Given the description of an element on the screen output the (x, y) to click on. 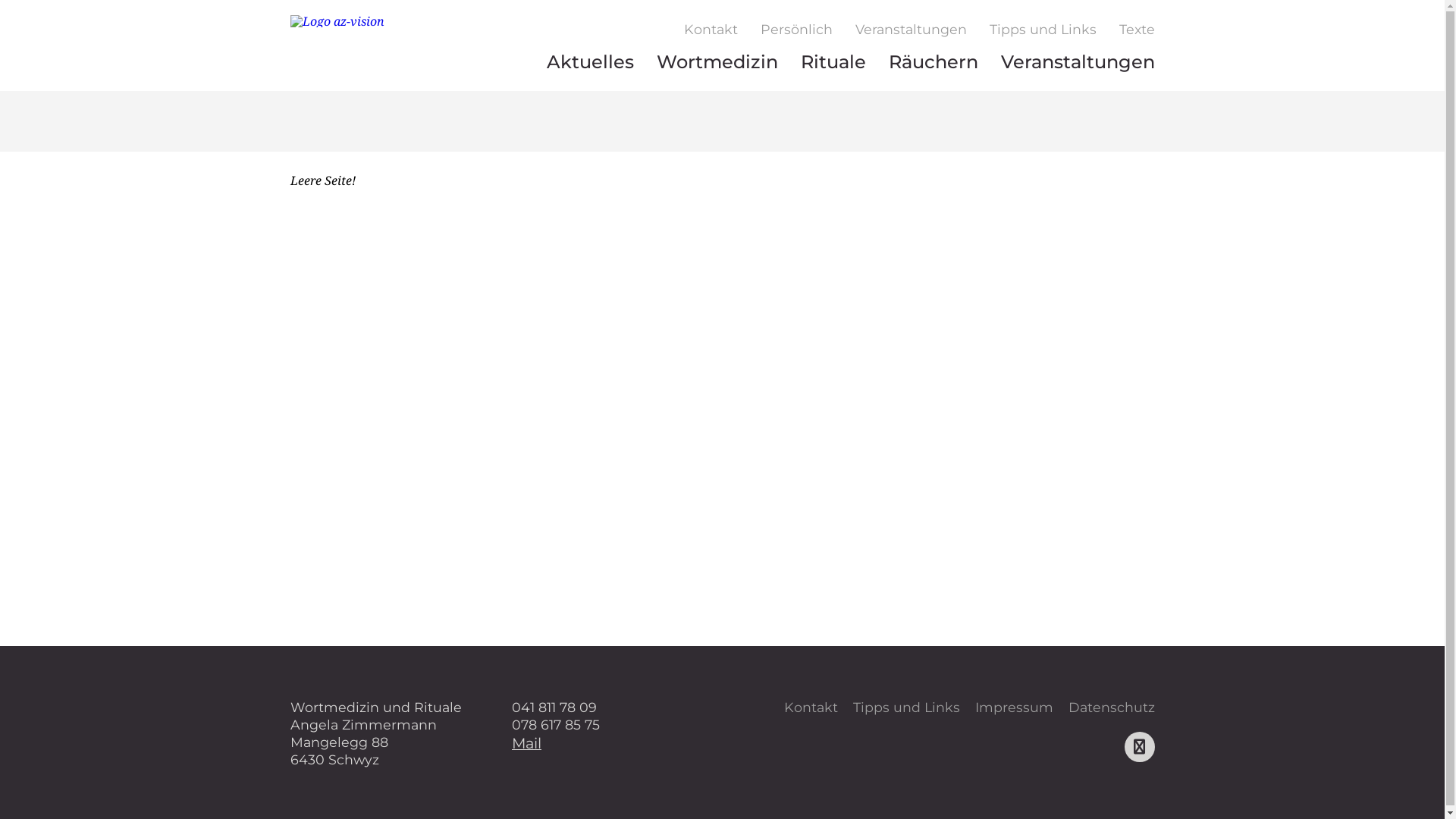
Rituale Element type: text (832, 61)
Texte Element type: text (1136, 29)
Mail Element type: text (526, 743)
Veranstaltungen Element type: text (910, 29)
Datenschutz Element type: text (1110, 707)
Aktuelles Element type: text (590, 61)
Tipps und Links Element type: text (905, 707)
Kontakt Element type: text (810, 707)
Veranstaltungen Element type: text (1076, 61)
Wortmedizin Element type: text (716, 61)
Kontakt Element type: text (709, 29)
Tipps und Links Element type: text (1042, 29)
Impressum Element type: text (1013, 707)
